Given the description of an element on the screen output the (x, y) to click on. 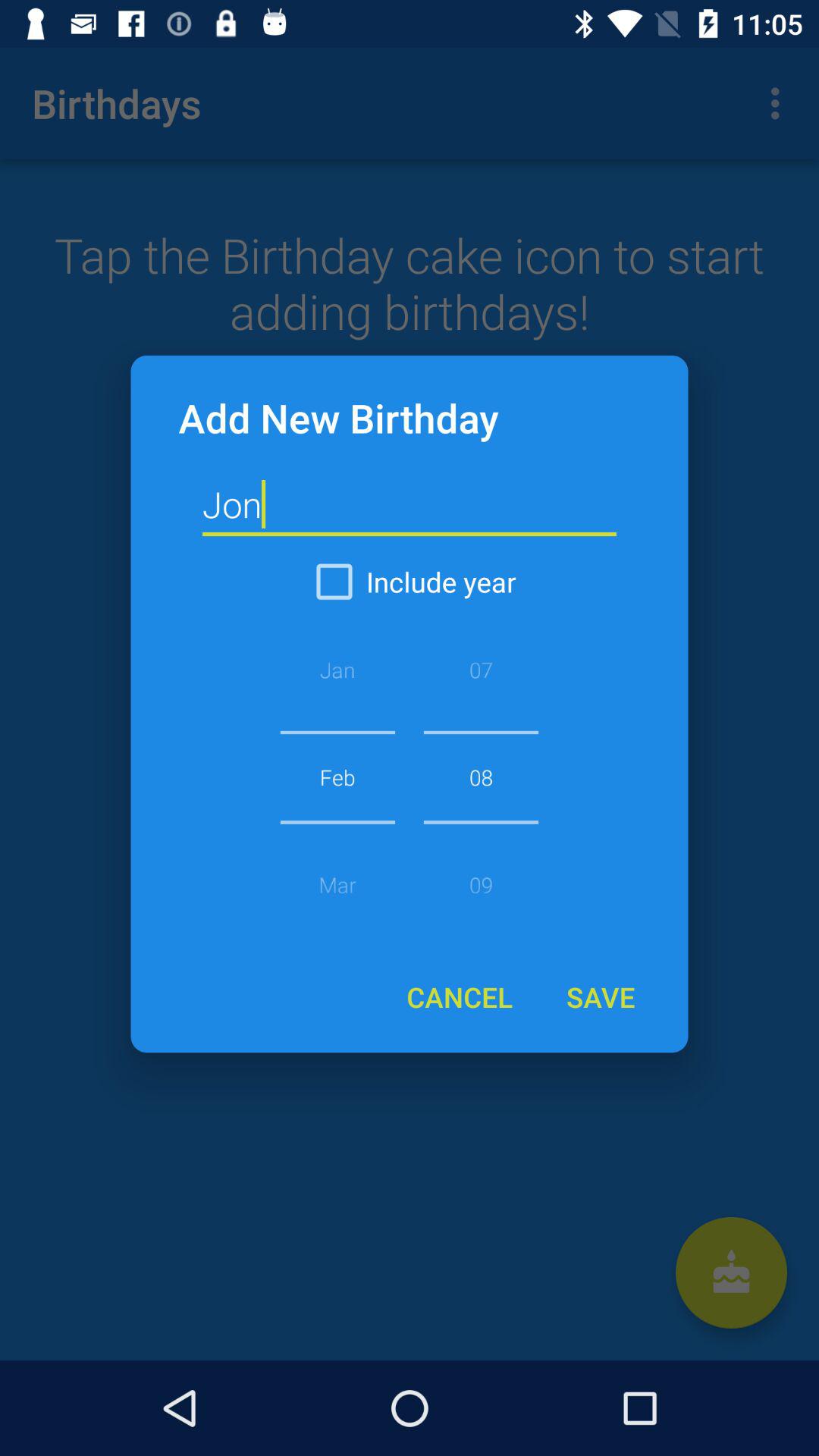
tap the icon above include year icon (409, 504)
